Given the description of an element on the screen output the (x, y) to click on. 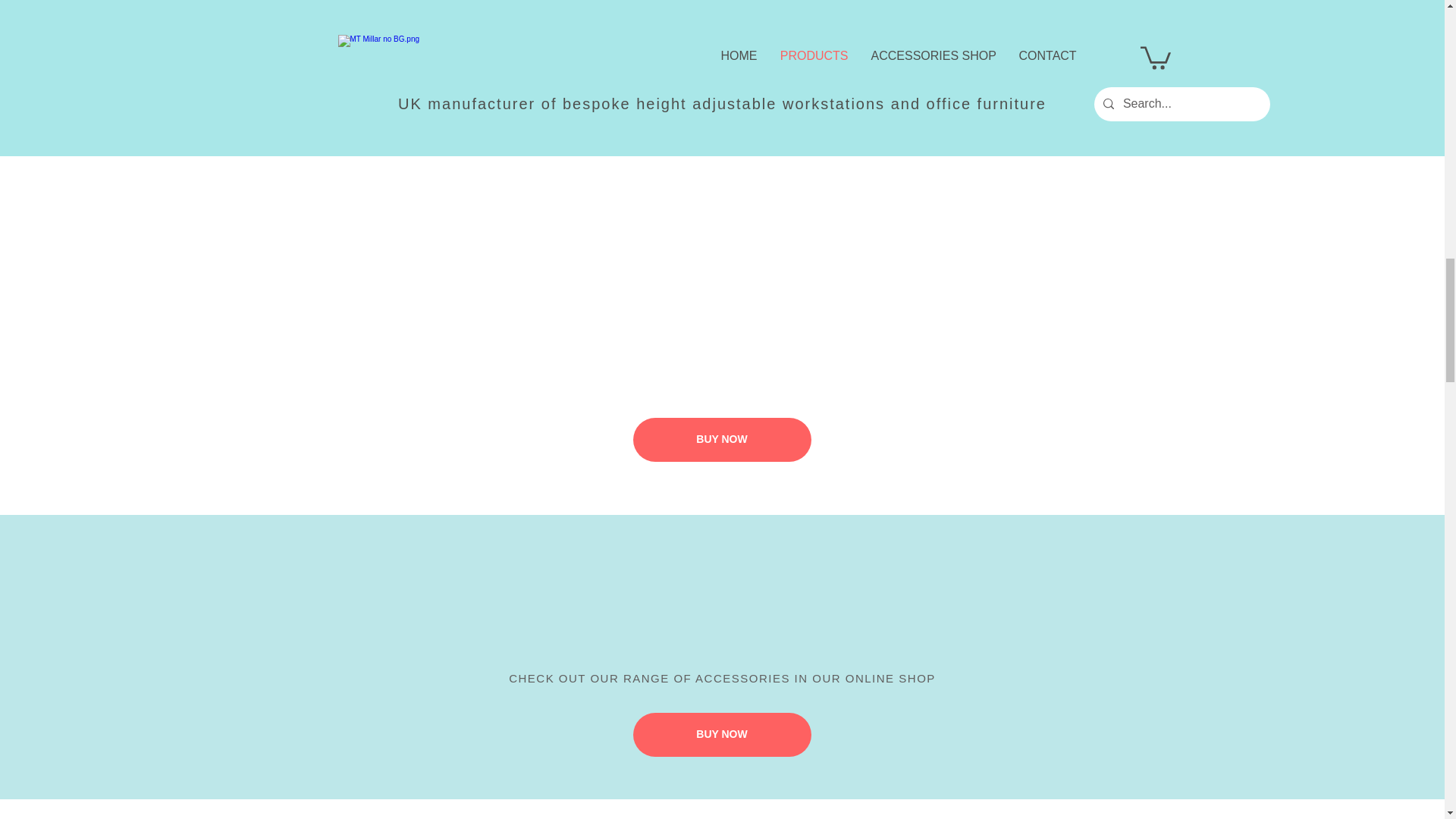
BUY NOW (720, 439)
BUY NOW (720, 734)
